Given the description of an element on the screen output the (x, y) to click on. 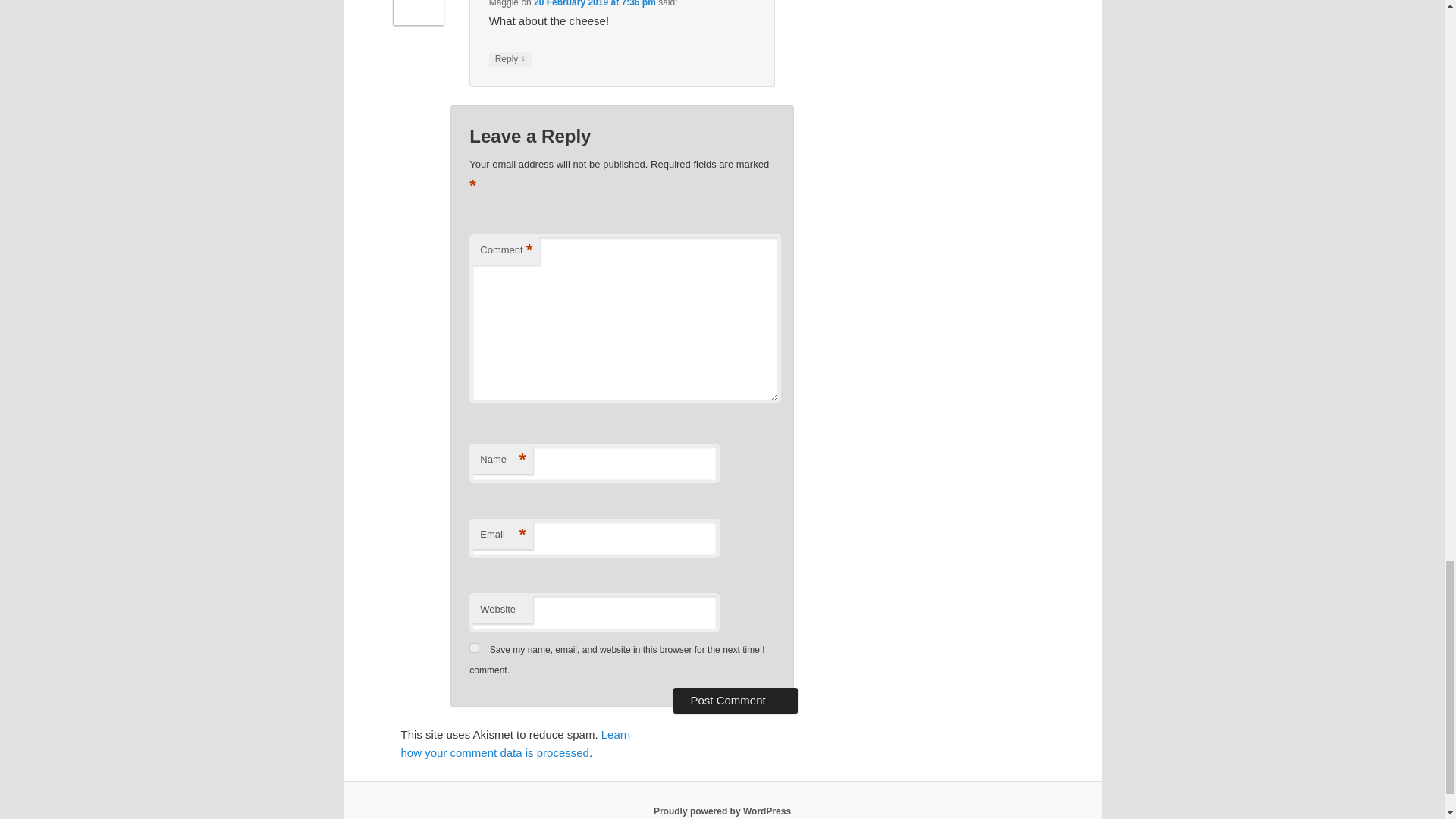
20 February 2019 at 7:36 pm (595, 3)
Semantic Personal Publishing Platform (721, 810)
Learn how your comment data is processed (515, 743)
yes (473, 647)
Post Comment (734, 700)
Post Comment (734, 700)
